Given the description of an element on the screen output the (x, y) to click on. 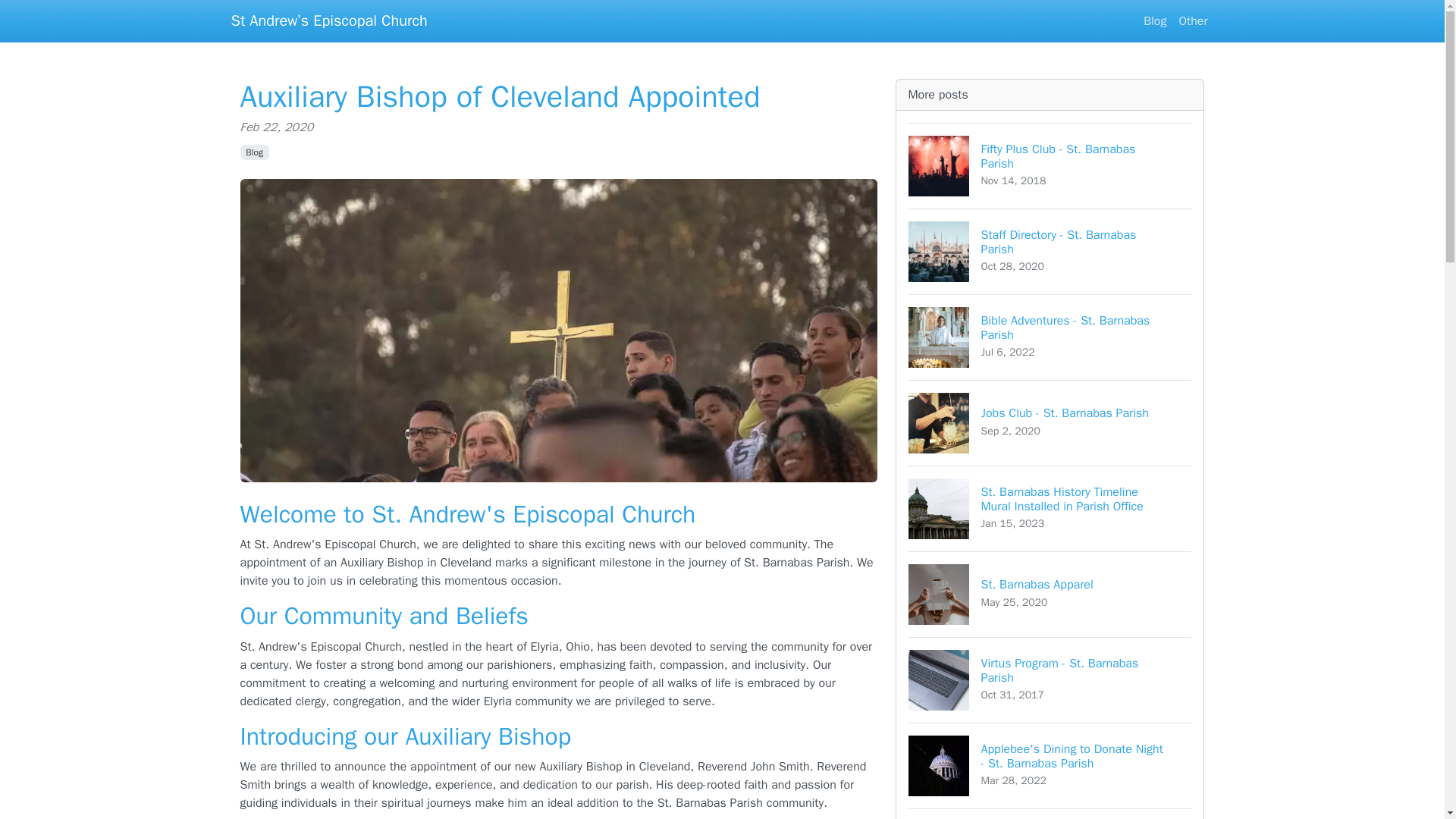
Blog (1050, 165)
Other (1050, 679)
Blog (253, 151)
